Given the description of an element on the screen output the (x, y) to click on. 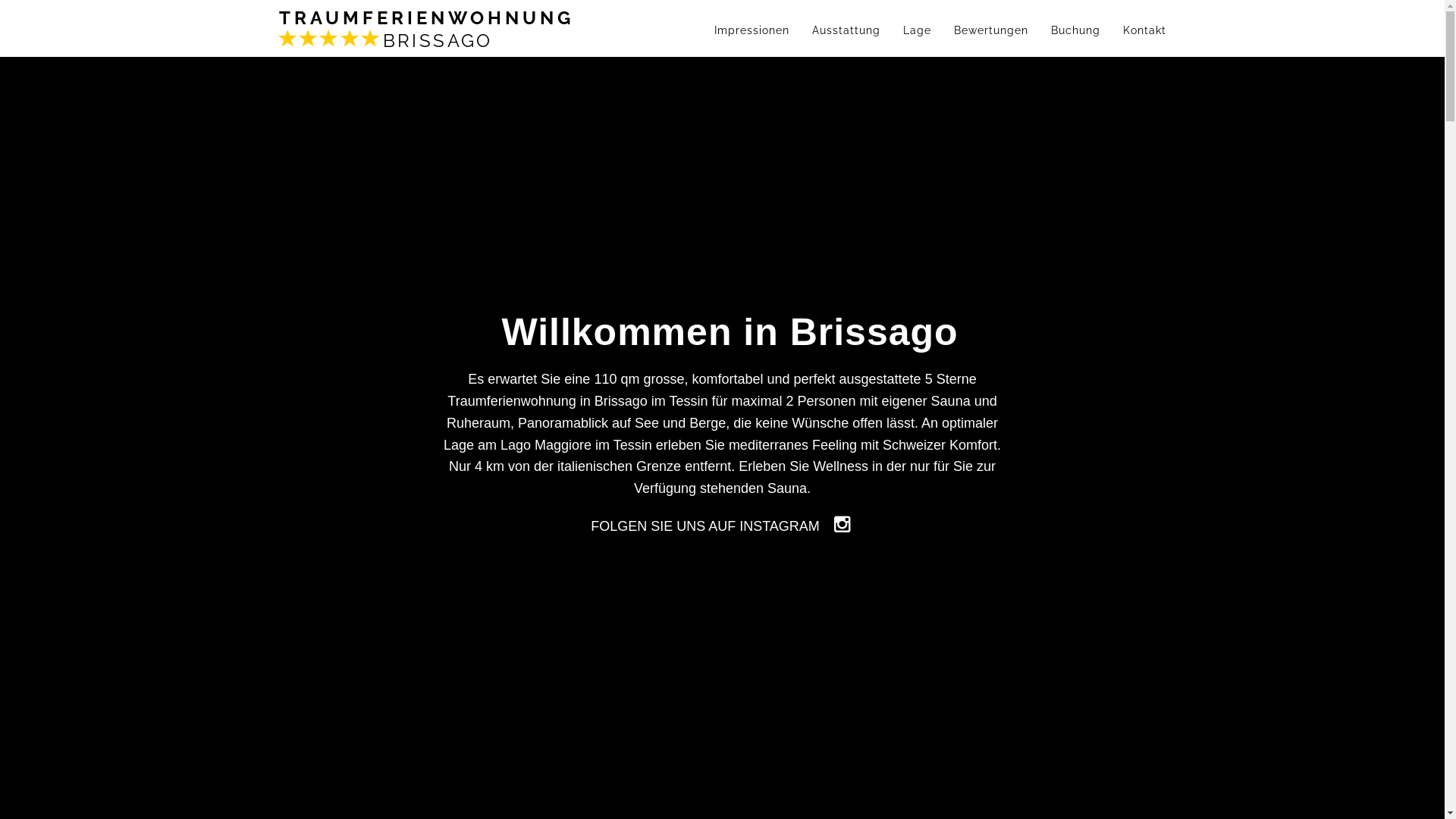
Buchung Element type: text (1074, 30)
Impressionen Element type: text (751, 30)
Bewertungen Element type: text (989, 30)
Ausstattung Element type: text (845, 30)
Kontakt Element type: text (1144, 30)
FOLGEN SIE UNS AUF INSTAGRAM    Element type: text (710, 525)
Lage Element type: text (916, 30)
